Given the description of an element on the screen output the (x, y) to click on. 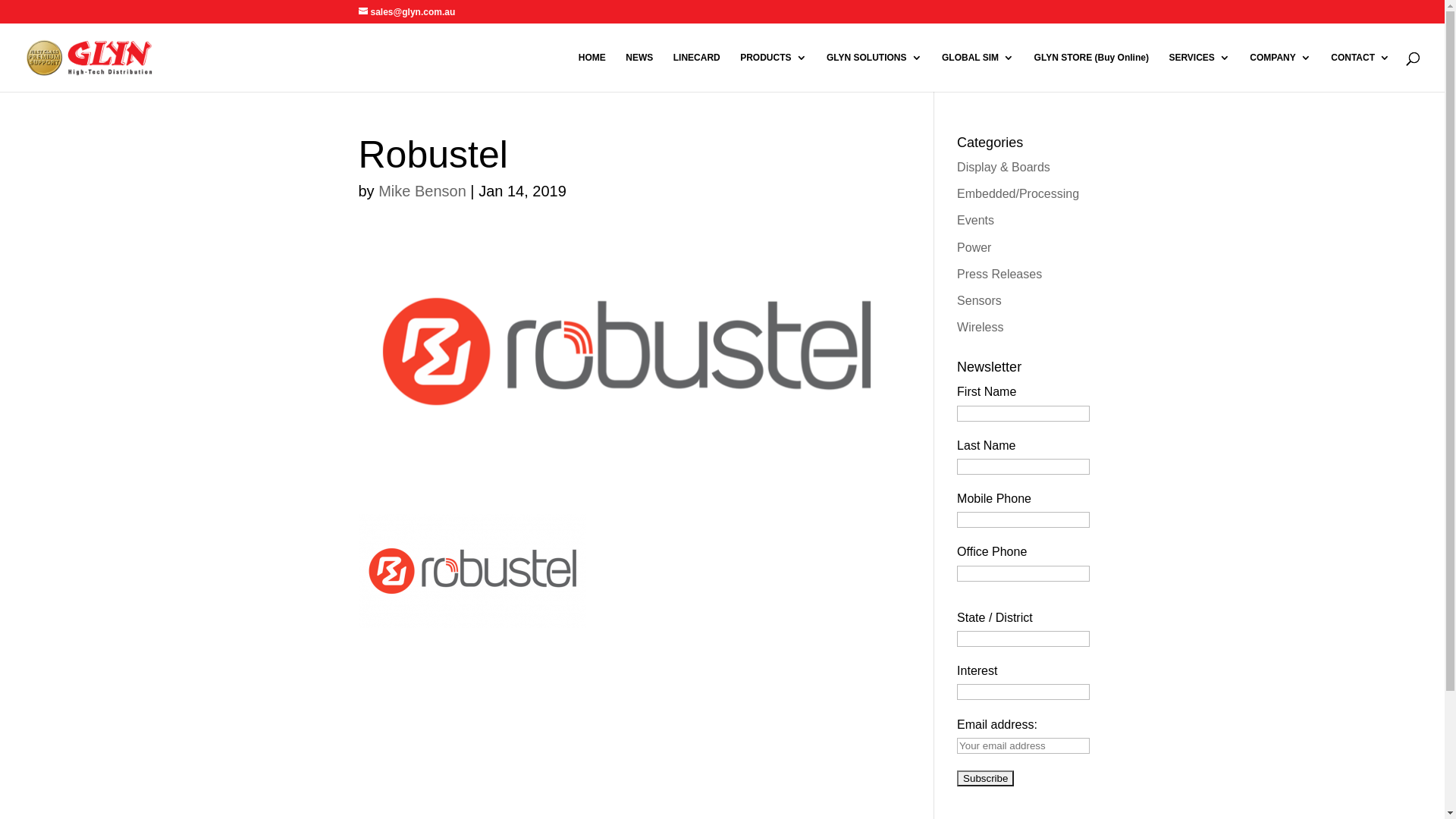
Embedded/Processing Element type: text (1018, 193)
Events Element type: text (975, 219)
PRODUCTS Element type: text (773, 71)
GLYN STORE (Buy Online) Element type: text (1091, 71)
Subscribe Element type: text (985, 778)
Display & Boards Element type: text (1003, 166)
LINECARD Element type: text (696, 71)
HOME Element type: text (591, 71)
GLOBAL SIM Element type: text (977, 71)
COMPANY Element type: text (1279, 71)
Mike Benson Element type: text (422, 190)
Press Releases Element type: text (999, 273)
Wireless Element type: text (980, 326)
Sensors Element type: text (979, 300)
sales@glyn.com.au Element type: text (406, 11)
SERVICES Element type: text (1198, 71)
GLYN SOLUTIONS Element type: text (874, 71)
NEWS Element type: text (638, 71)
CONTACT Element type: text (1360, 71)
Power Element type: text (974, 247)
